Given the description of an element on the screen output the (x, y) to click on. 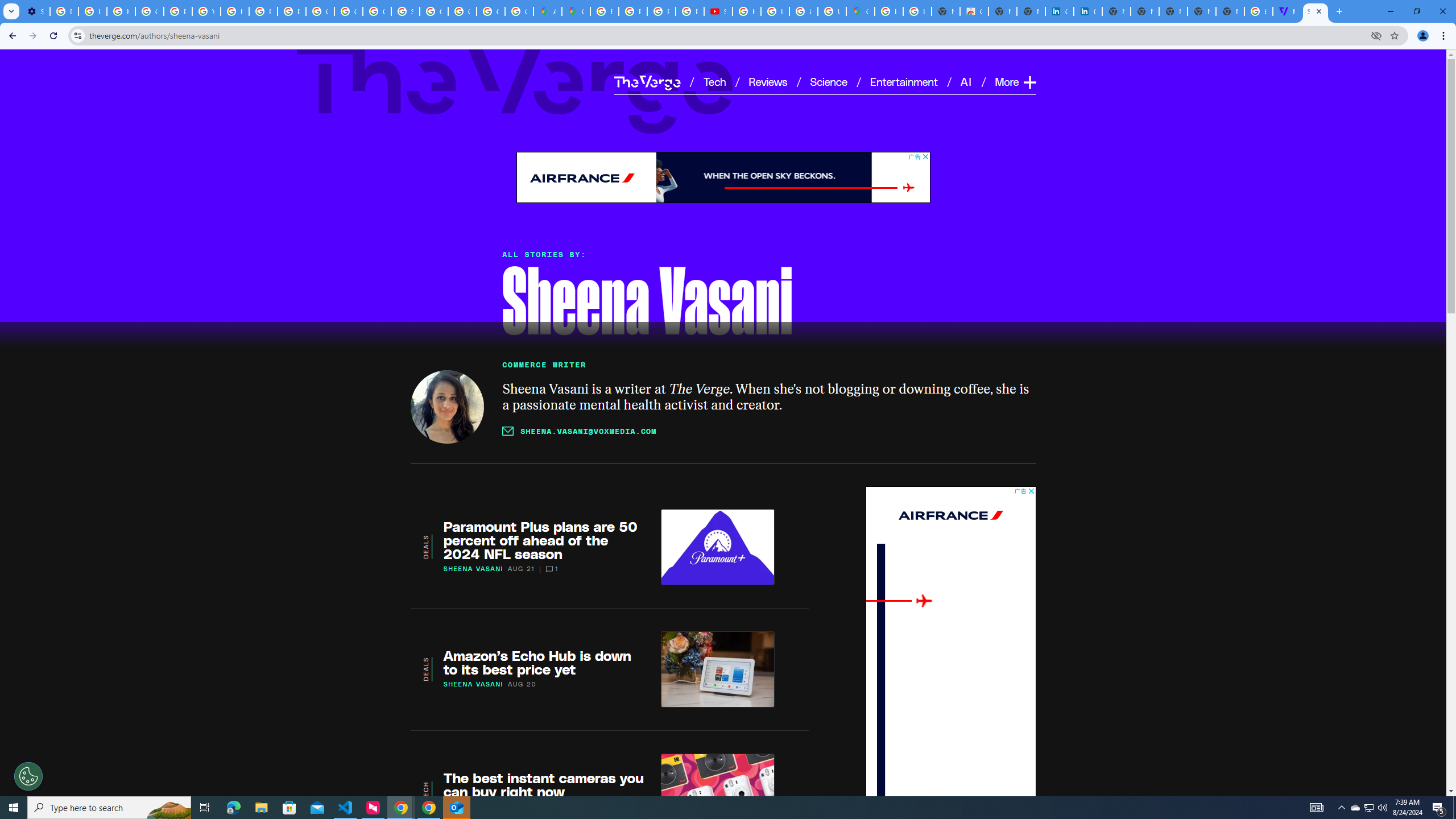
Delete photos & videos - Computer - Google Photos Help (63, 11)
The Verge (646, 82)
Google Maps (860, 11)
SHEENA.VASANI@VOXMEDIA.COM (579, 430)
